Given the description of an element on the screen output the (x, y) to click on. 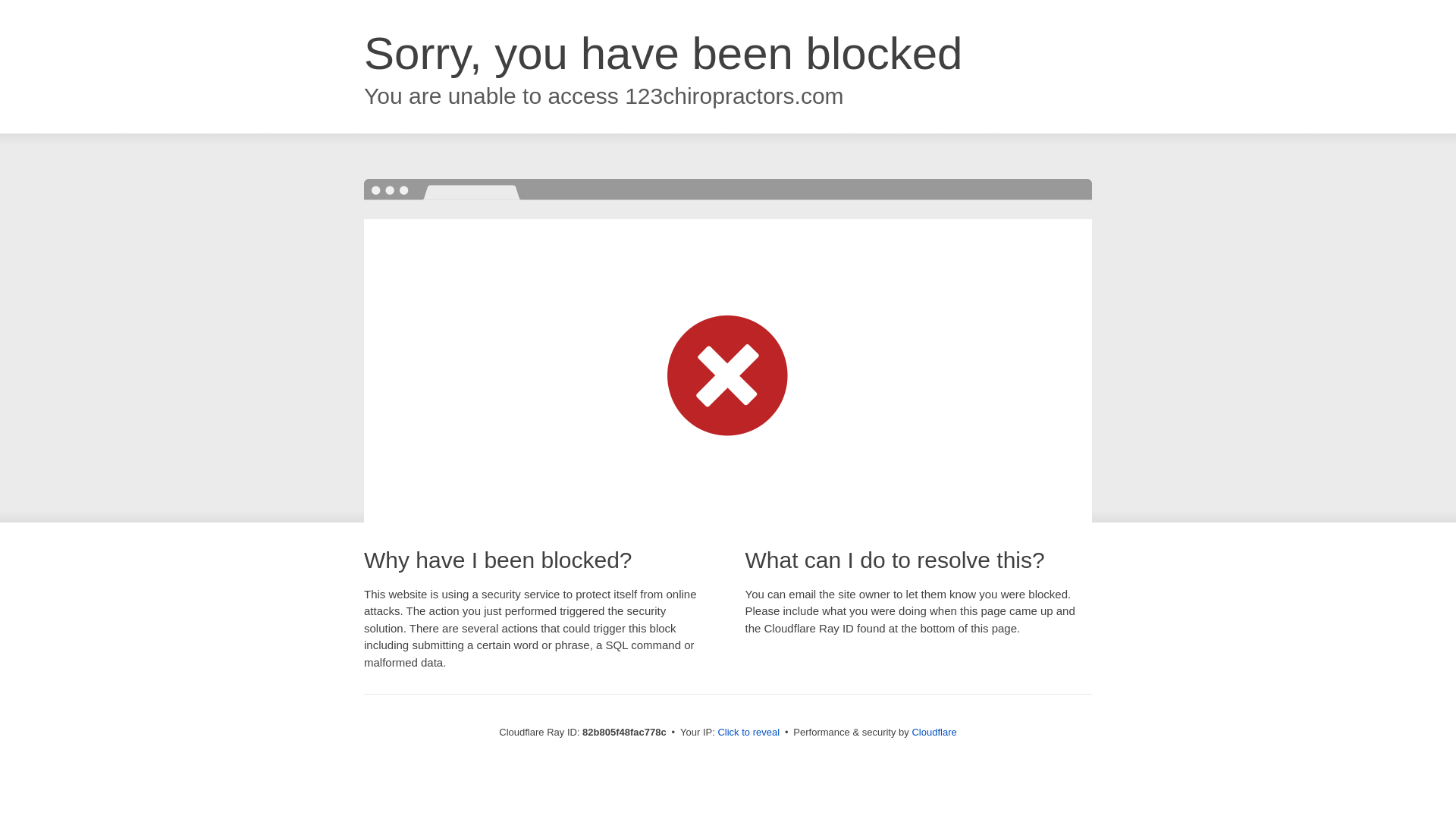
Cloudflare Element type: text (933, 731)
Click to reveal Element type: text (748, 732)
